Given the description of an element on the screen output the (x, y) to click on. 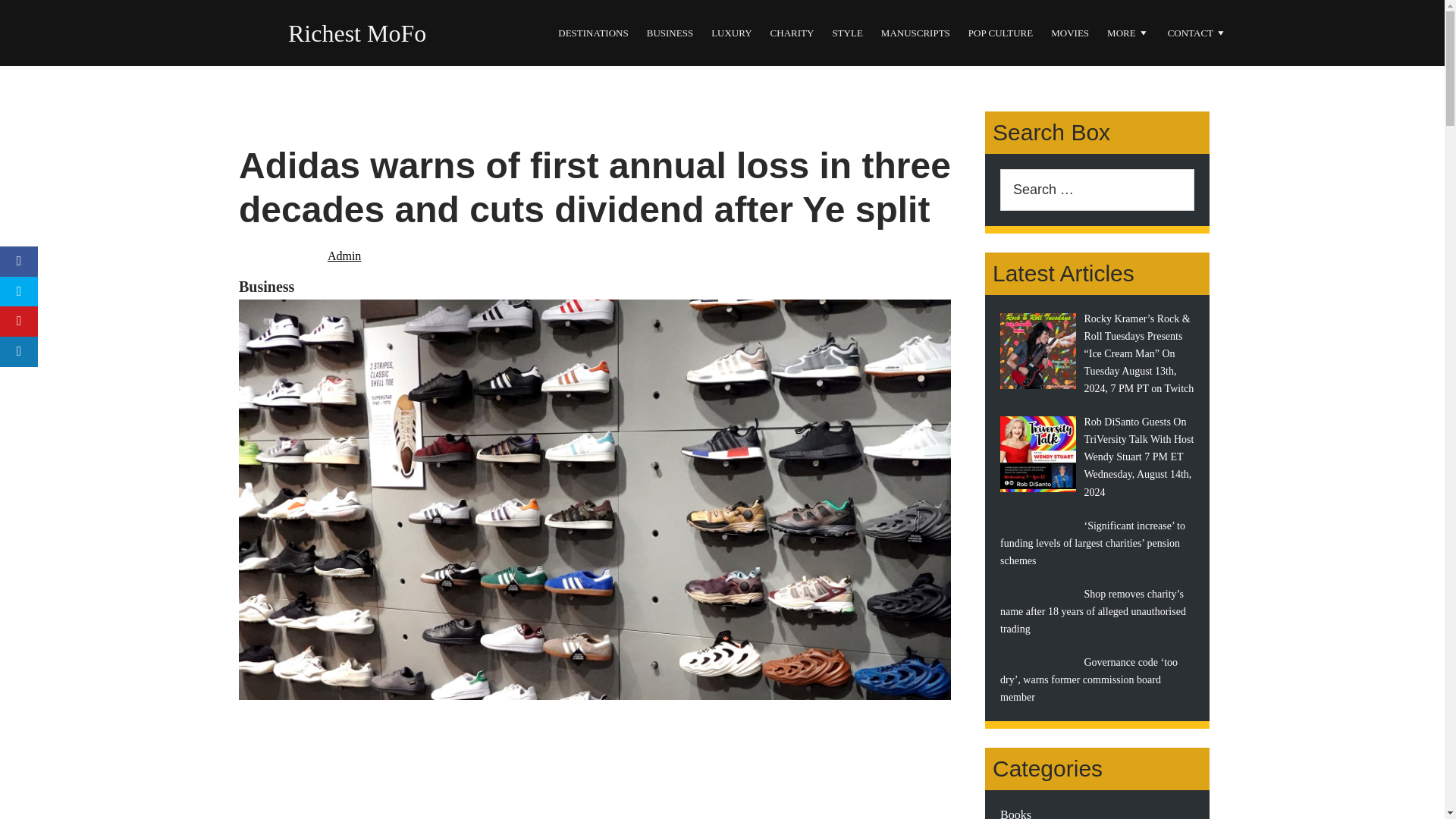
MORE (1127, 33)
MANUSCRIPTS (915, 33)
CHARITY (792, 33)
DESTINATIONS (592, 33)
POP CULTURE (1000, 33)
BUSINESS (669, 33)
Richest MoFo (357, 32)
Business (266, 286)
